Given the description of an element on the screen output the (x, y) to click on. 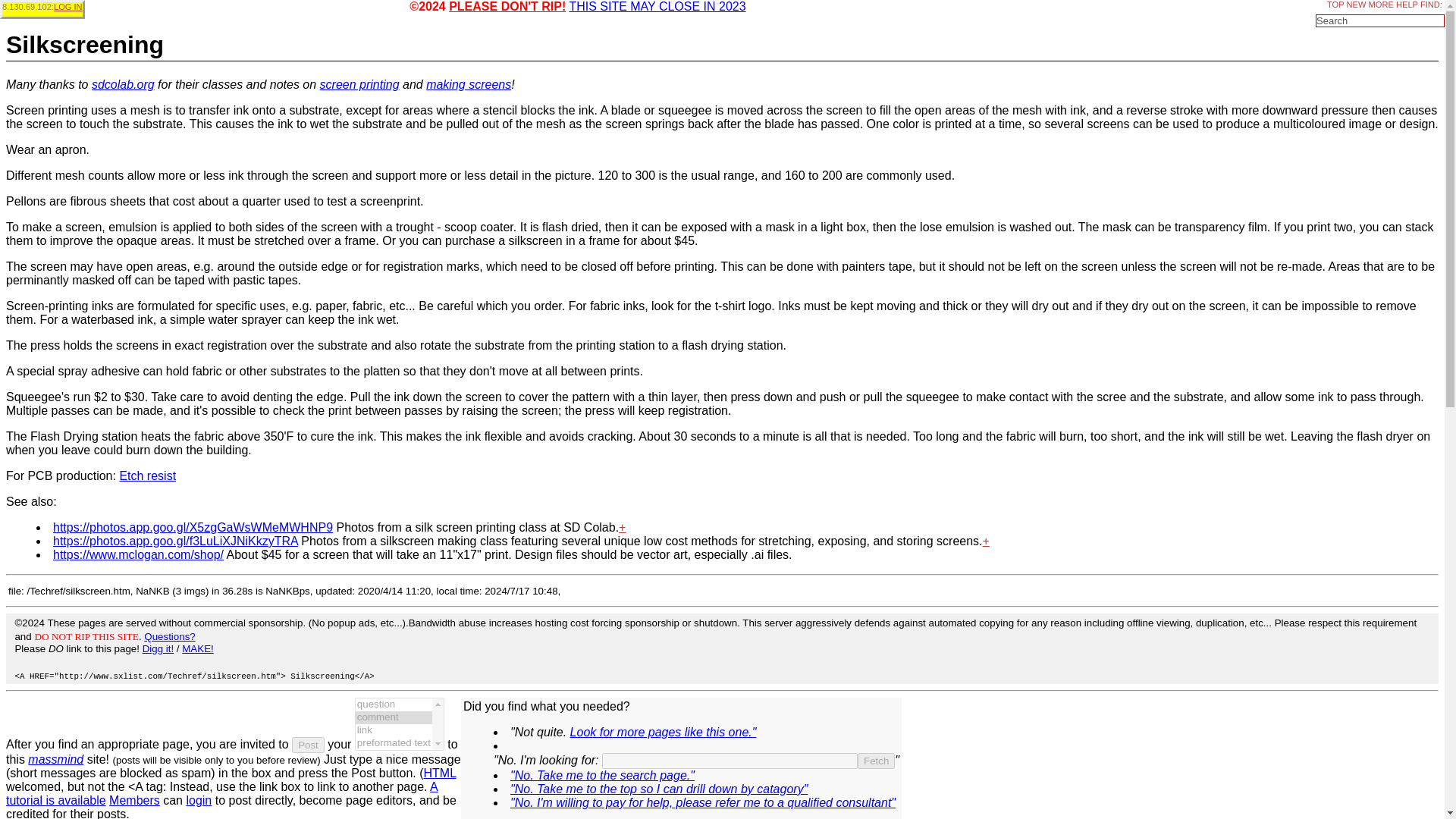
"No. Take me to the search page." (602, 775)
MORE (1380, 4)
JMN-EFP-786 (175, 540)
Etch resist (147, 475)
THIS SITE MAY CLOSE IN 2023 (657, 6)
Look for more pages like this one." (663, 731)
Members (134, 799)
MAKE! (197, 648)
massmind (54, 758)
JMN-EFP-786 (359, 83)
JMN-EFP-786 (192, 526)
JMN-EFP-786 (468, 83)
Fetch (876, 760)
NEW (1356, 4)
